Given the description of an element on the screen output the (x, y) to click on. 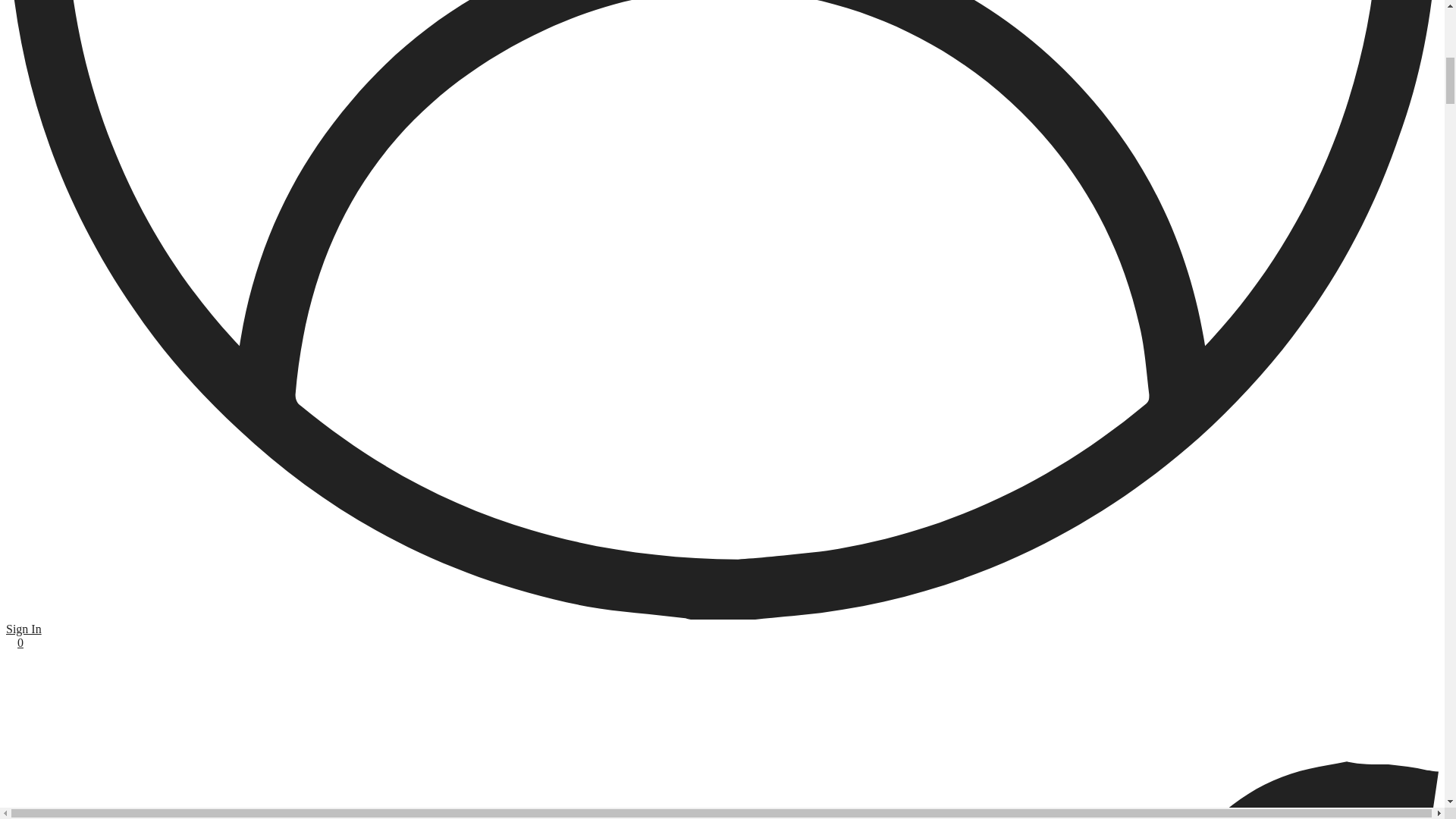
Sign In (721, 622)
